Given the description of an element on the screen output the (x, y) to click on. 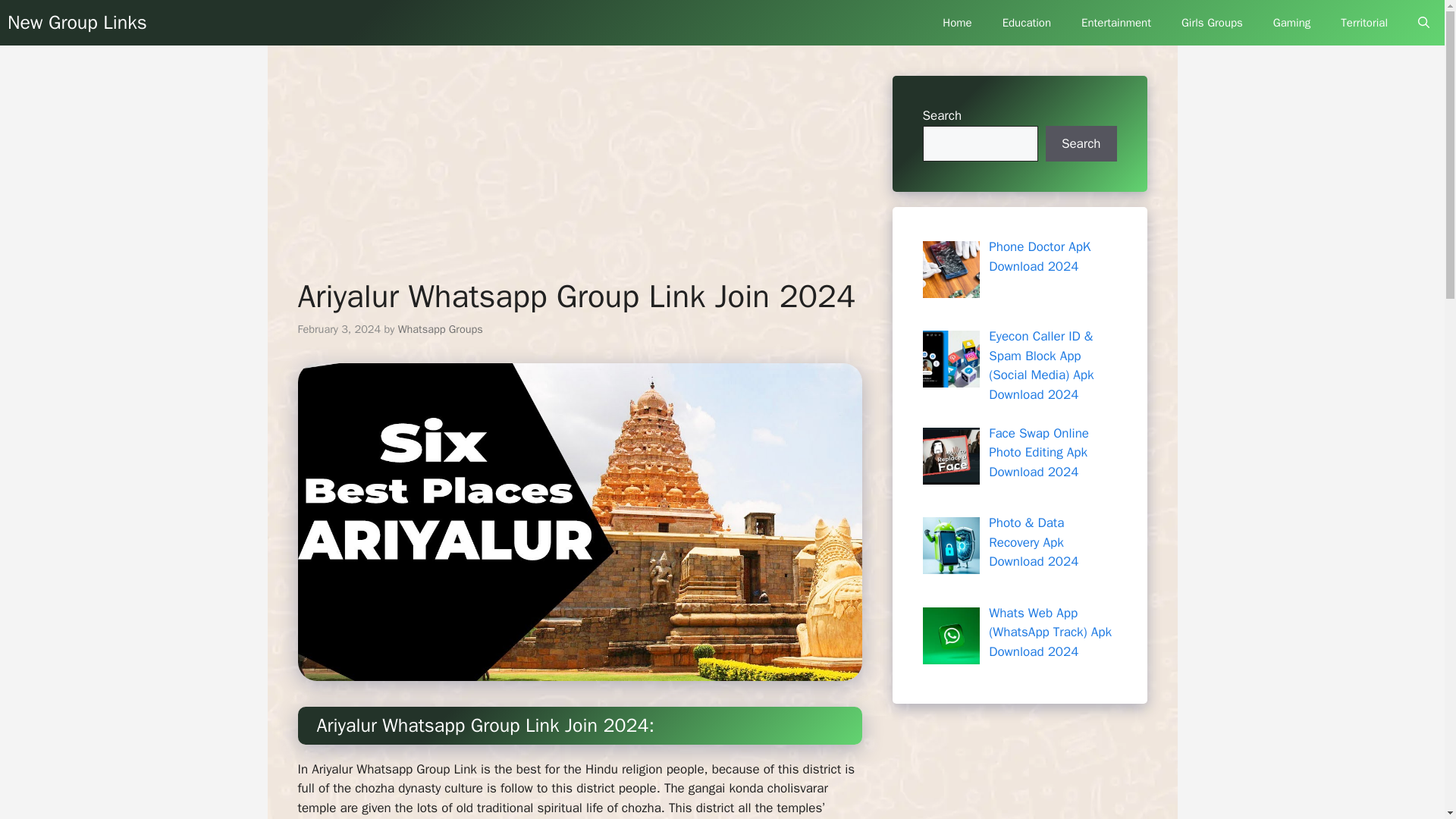
View all posts by Whatsapp Groups (440, 328)
Whatsapp Groups (440, 328)
Territorial (1363, 22)
Education (1026, 22)
Girls Groups (1211, 22)
Home (957, 22)
Gaming (1290, 22)
Entertainment (1115, 22)
